Given the description of an element on the screen output the (x, y) to click on. 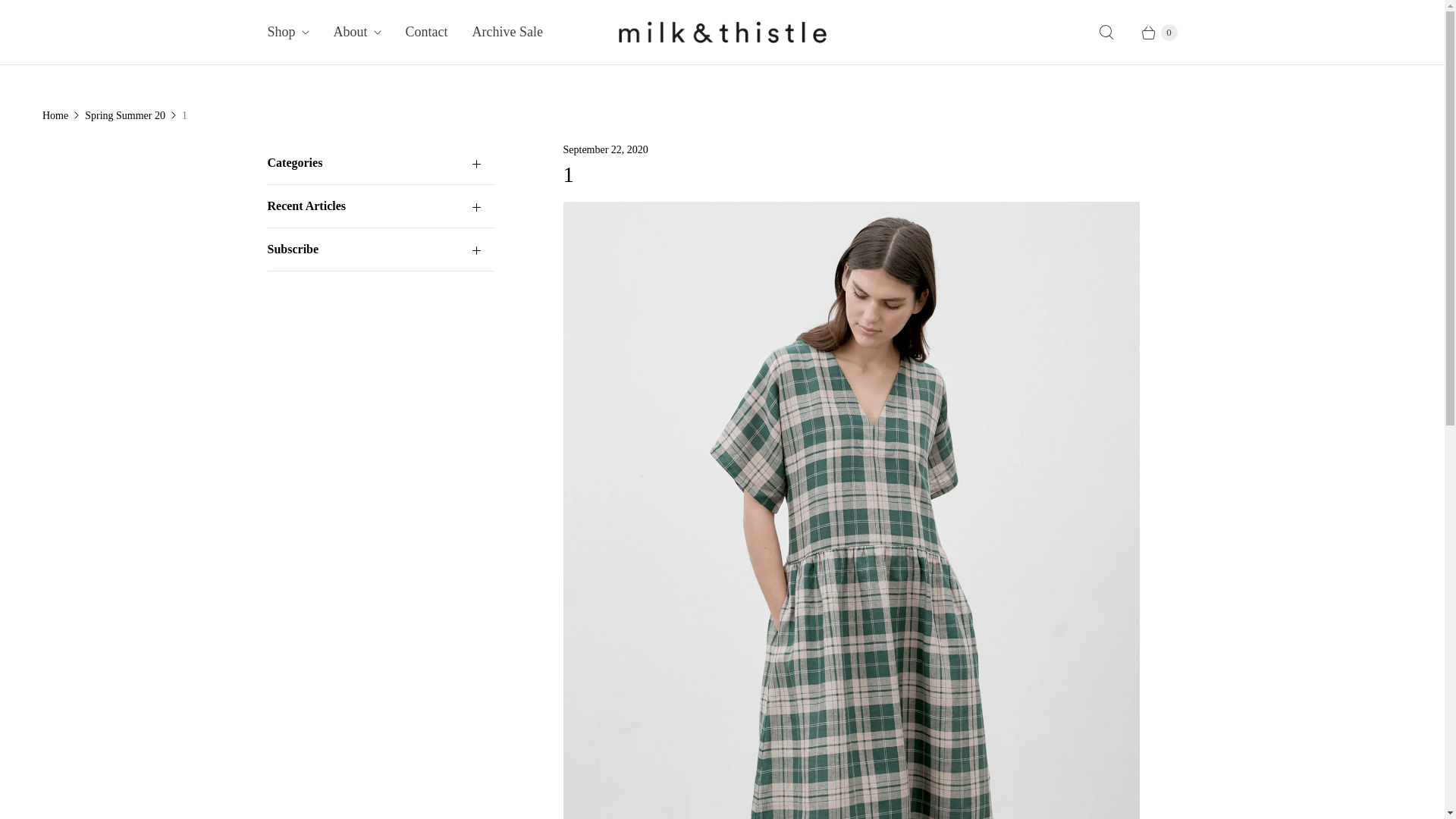
Contact Element type: text (426, 31)
Home Element type: text (55, 115)
0 Element type: text (1151, 32)
Categories Element type: text (380, 162)
Subscribe Element type: text (380, 249)
Archive Sale Element type: text (507, 31)
Recent Articles Element type: text (380, 206)
About Element type: text (357, 31)
Shop Element type: text (287, 31)
Spring Summer 20 Element type: text (124, 115)
